Given the description of an element on the screen output the (x, y) to click on. 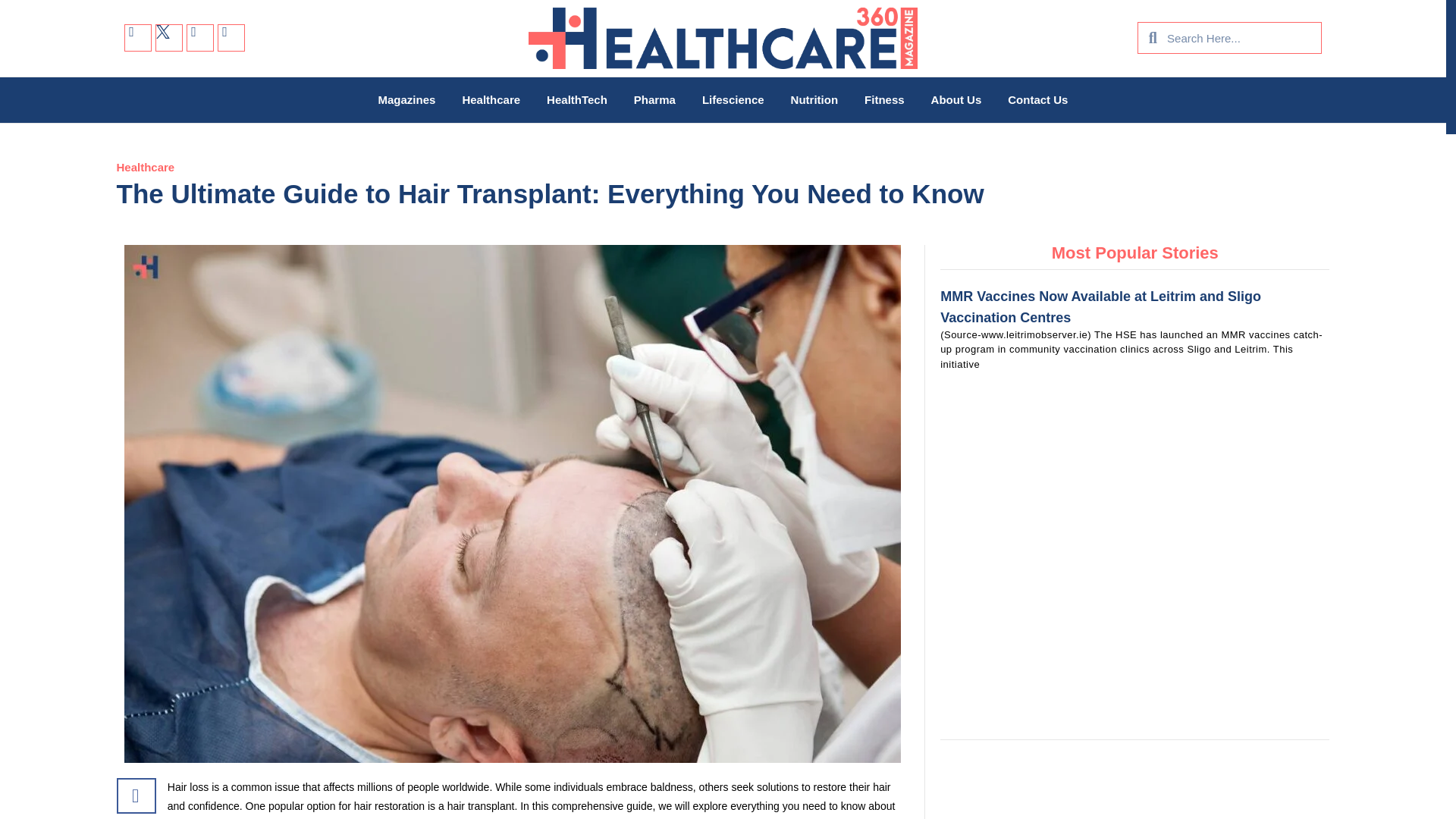
About Us (956, 99)
Fitness (884, 99)
Pharma (654, 99)
Contact Us (1037, 99)
Magazines (407, 99)
Healthcare (145, 166)
Lifescience (732, 99)
Nutrition (814, 99)
